Given the description of an element on the screen output the (x, y) to click on. 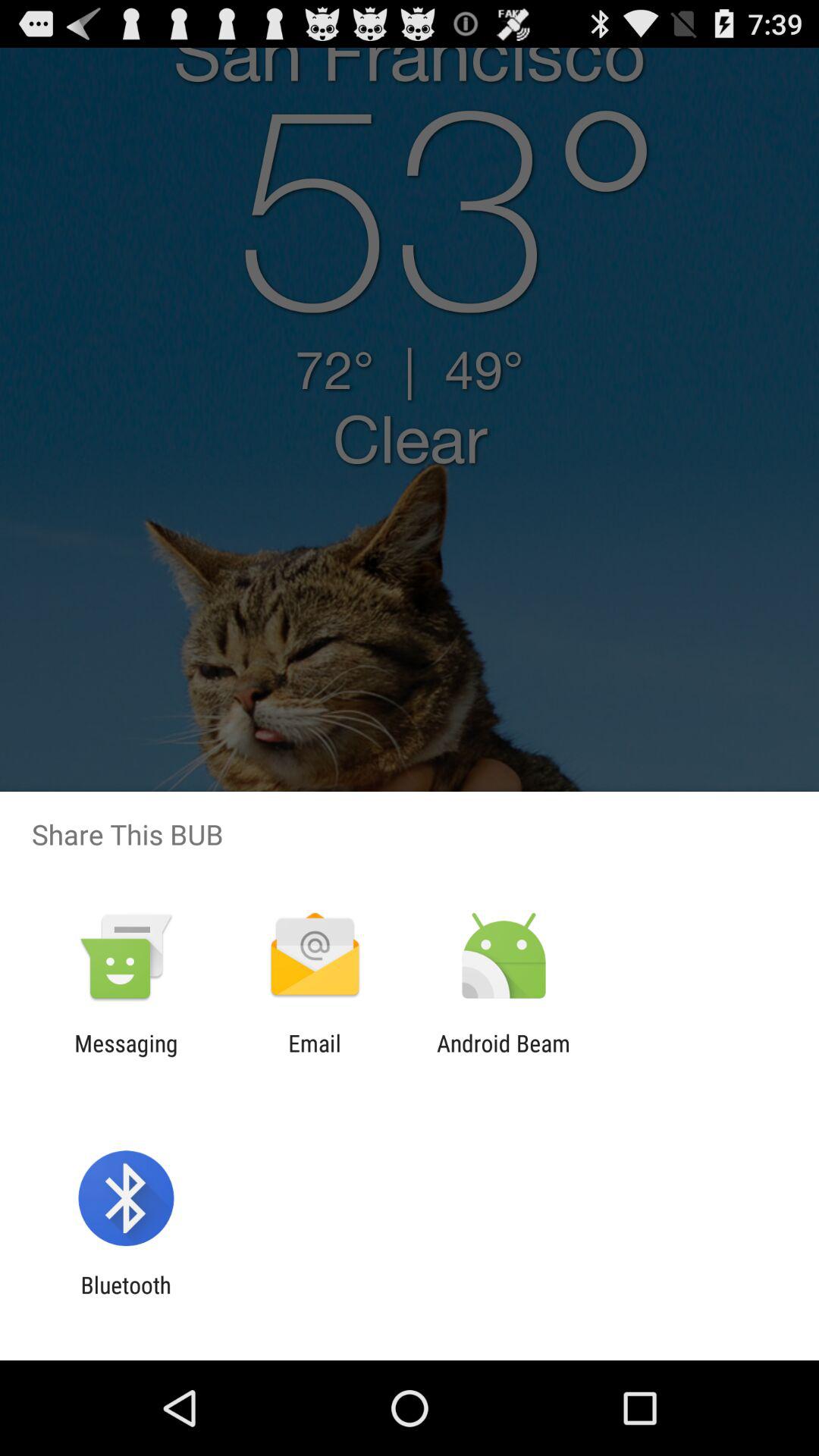
launch icon next to the email item (126, 1056)
